Given the description of an element on the screen output the (x, y) to click on. 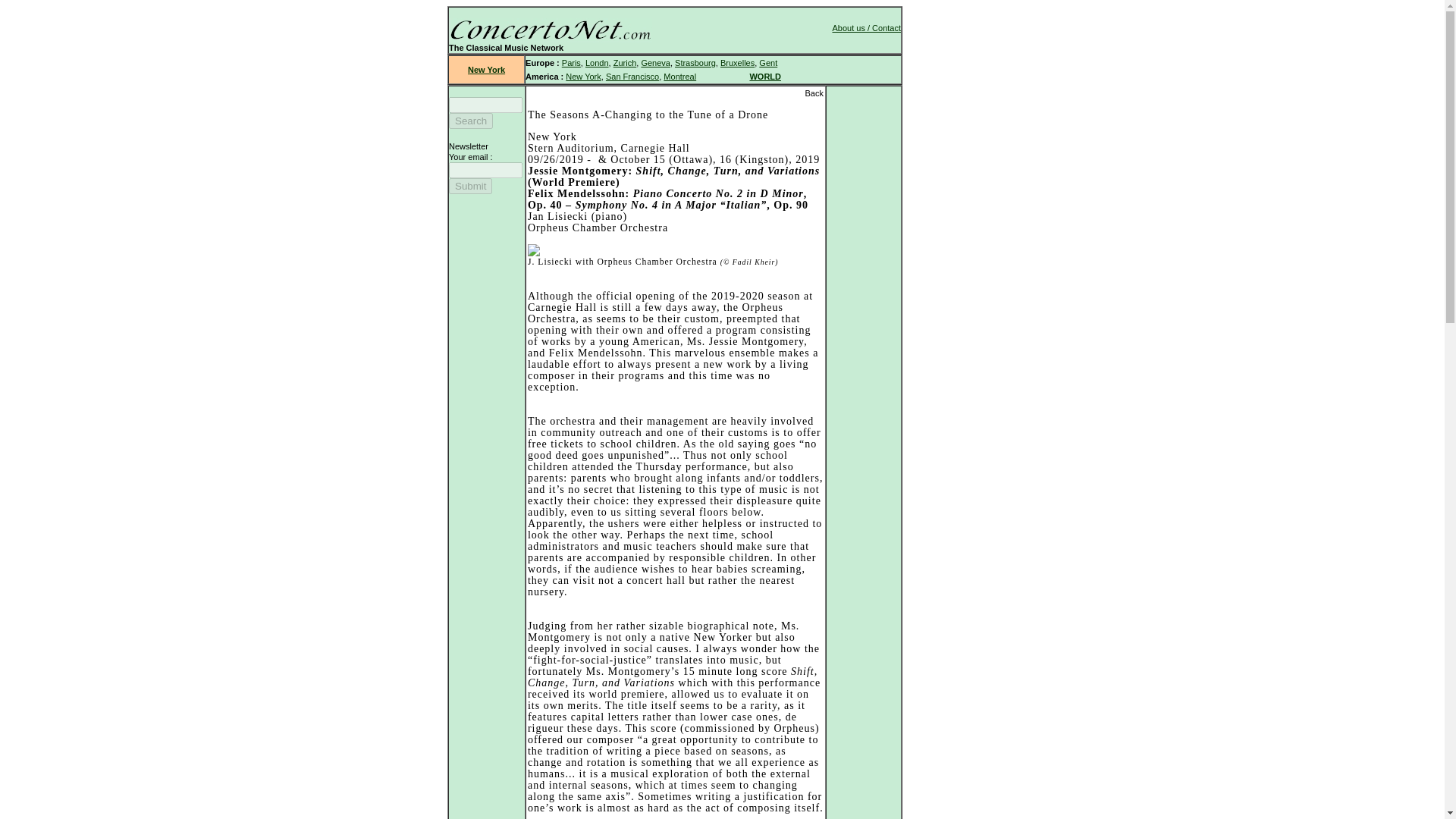
Back (813, 92)
Strasbourg (695, 62)
Zurich (624, 62)
WORLD (764, 76)
New York (486, 69)
Search (470, 120)
Search (470, 120)
Montreal (679, 76)
Submit (470, 186)
Geneva (654, 62)
Gent (767, 62)
Paris (571, 62)
Londn (596, 62)
Bruxelles (737, 62)
New York (582, 76)
